Given the description of an element on the screen output the (x, y) to click on. 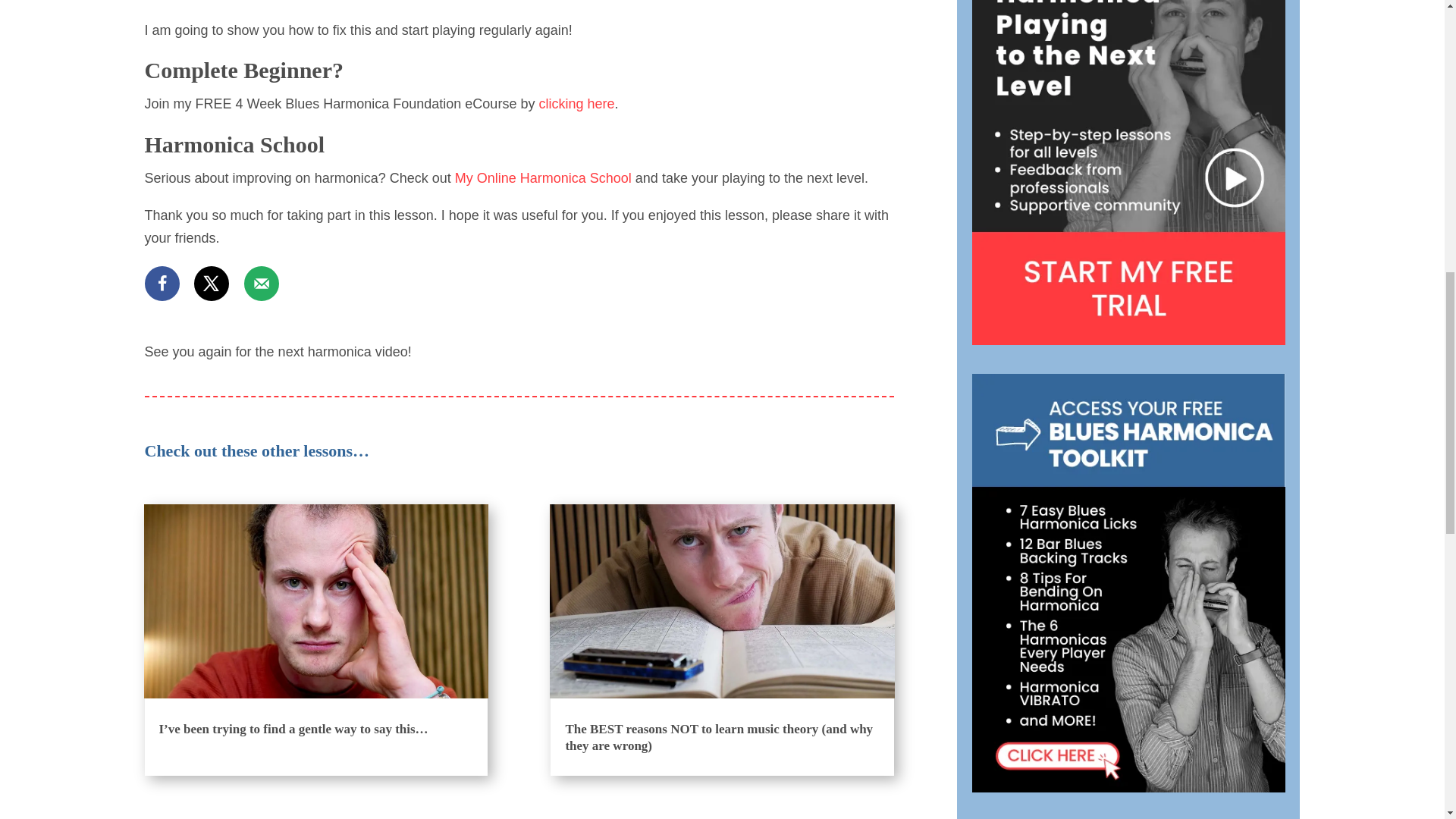
Share on X (210, 283)
harmonica school free trial (1128, 172)
Send over email (261, 283)
Share on Facebook (161, 283)
